Given the description of an element on the screen output the (x, y) to click on. 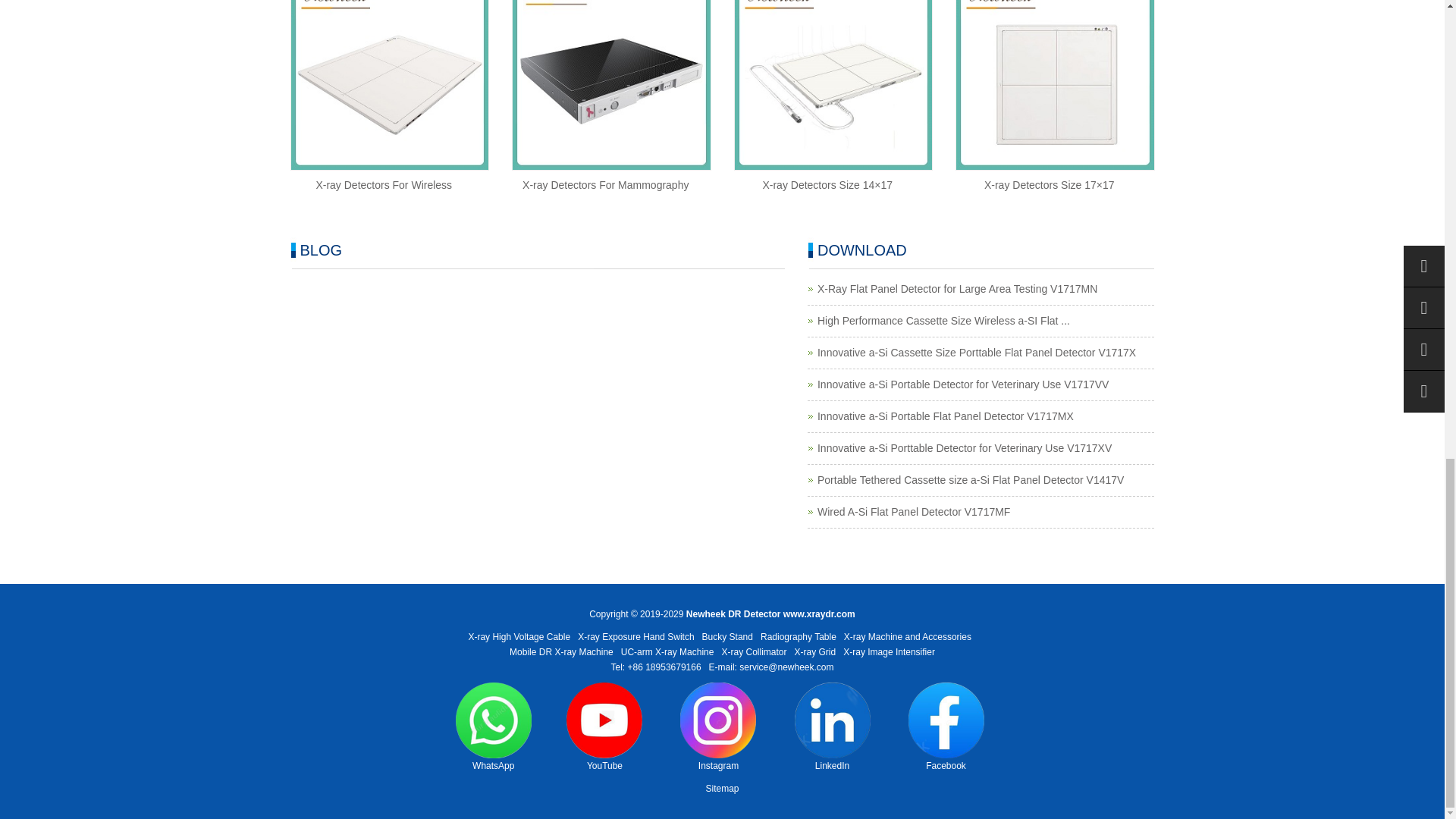
Innovative a-Si Portable Detector for Veterinary Use V1717VV (962, 384)
X-Ray Flat Panel Detector for Large Area Testing V1717MN (956, 288)
X-ray detectors for wireless (383, 184)
Wired A-Si Flat Panel Detector V1717MF (913, 511)
X-ray detectors for Mammography (605, 184)
Innovative a-Si Portable Flat Panel Detector V1717MX (945, 416)
